Given the description of an element on the screen output the (x, y) to click on. 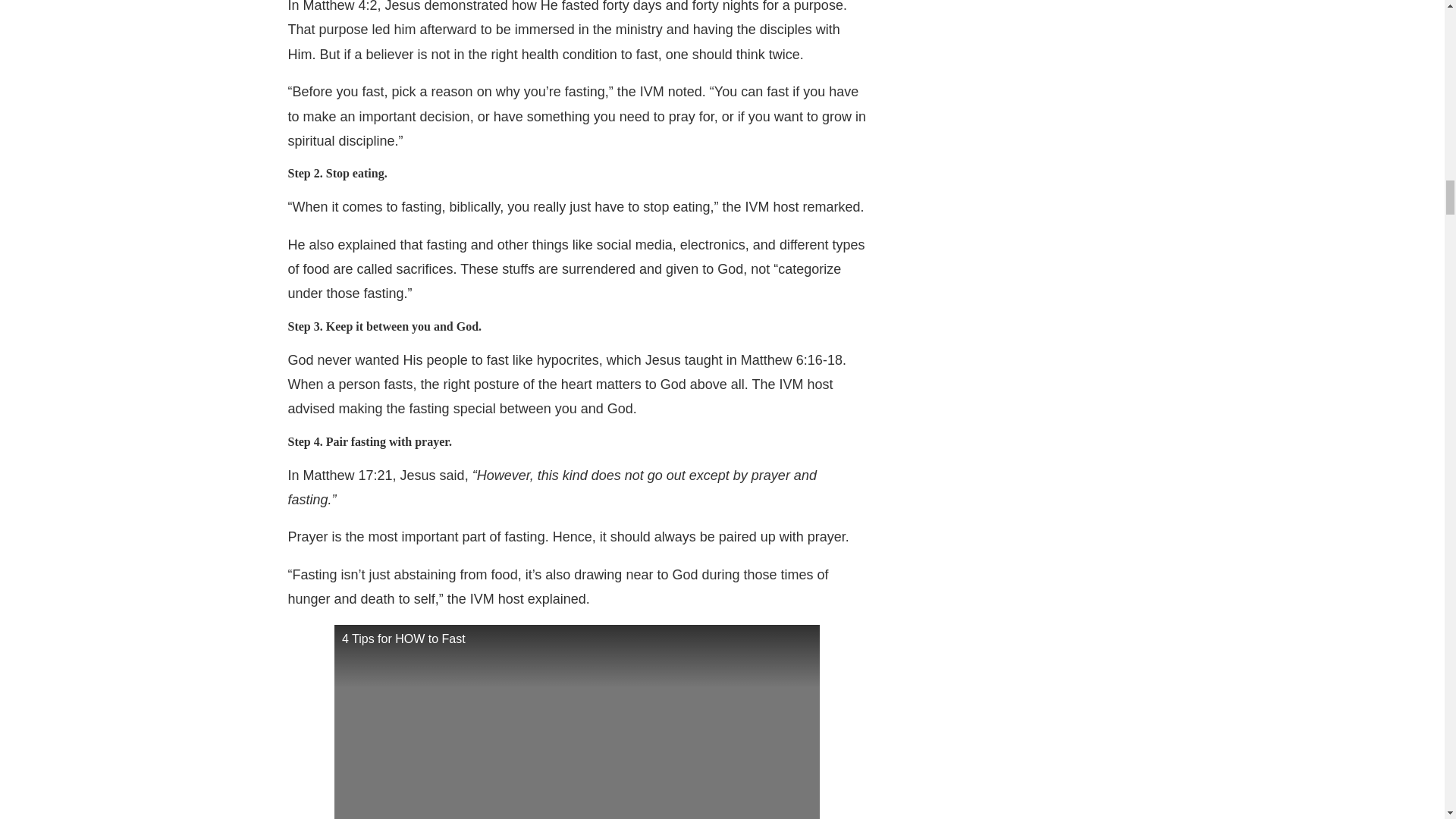
4 Tips for HOW to Fast (576, 721)
